Given the description of an element on the screen output the (x, y) to click on. 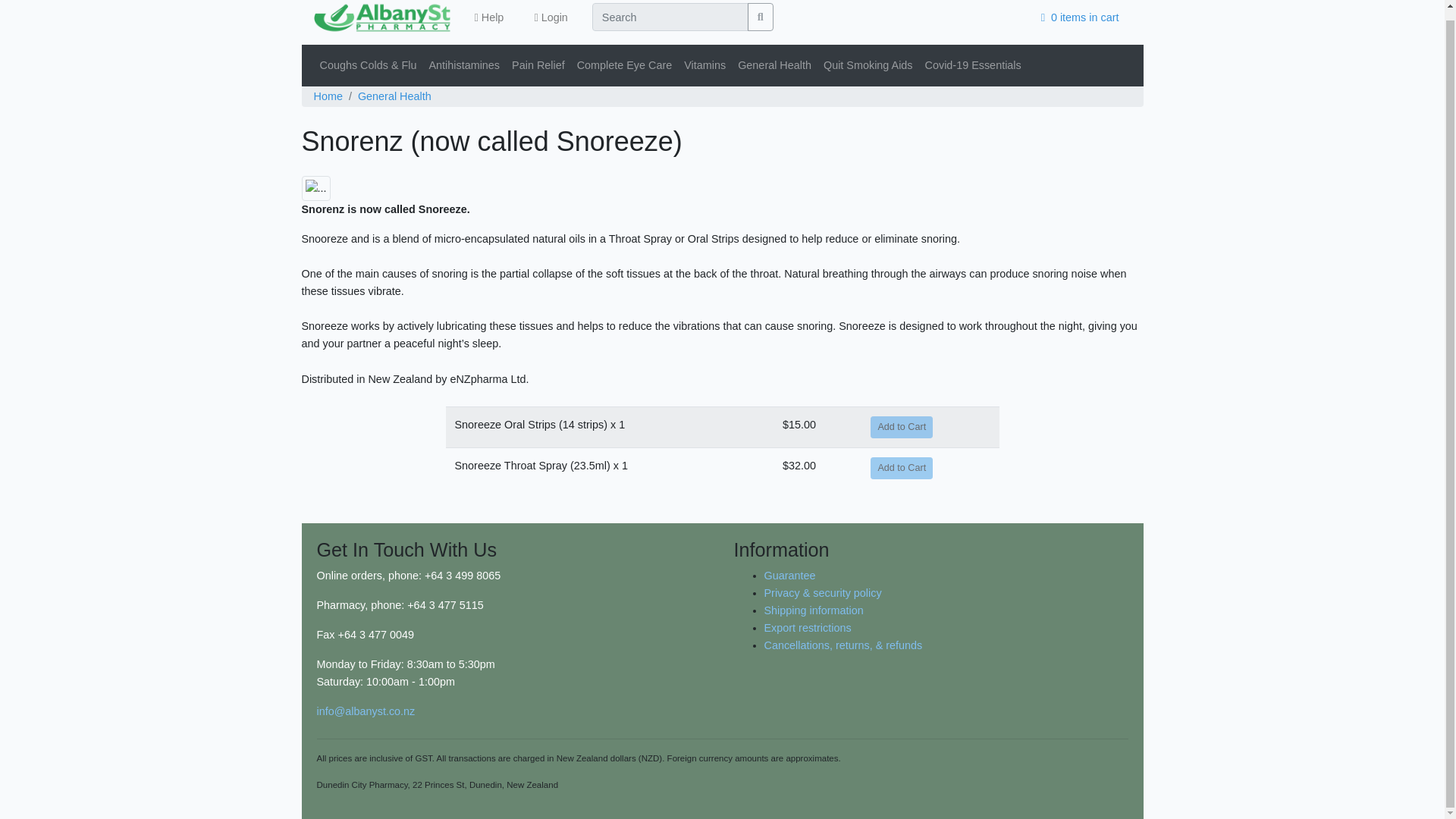
Export restrictions (807, 627)
General Health (774, 65)
Antihistamines (463, 65)
Add to Cart (901, 468)
Shipping information (813, 610)
Quit Smoking Aids (867, 65)
Complete Eye Care (624, 65)
Vitamins (705, 65)
Login (550, 17)
0 items in cart (1080, 17)
Pain Relief (537, 65)
Guarantee (789, 575)
Add to Cart (901, 427)
Home (328, 96)
General Health (394, 96)
